Given the description of an element on the screen output the (x, y) to click on. 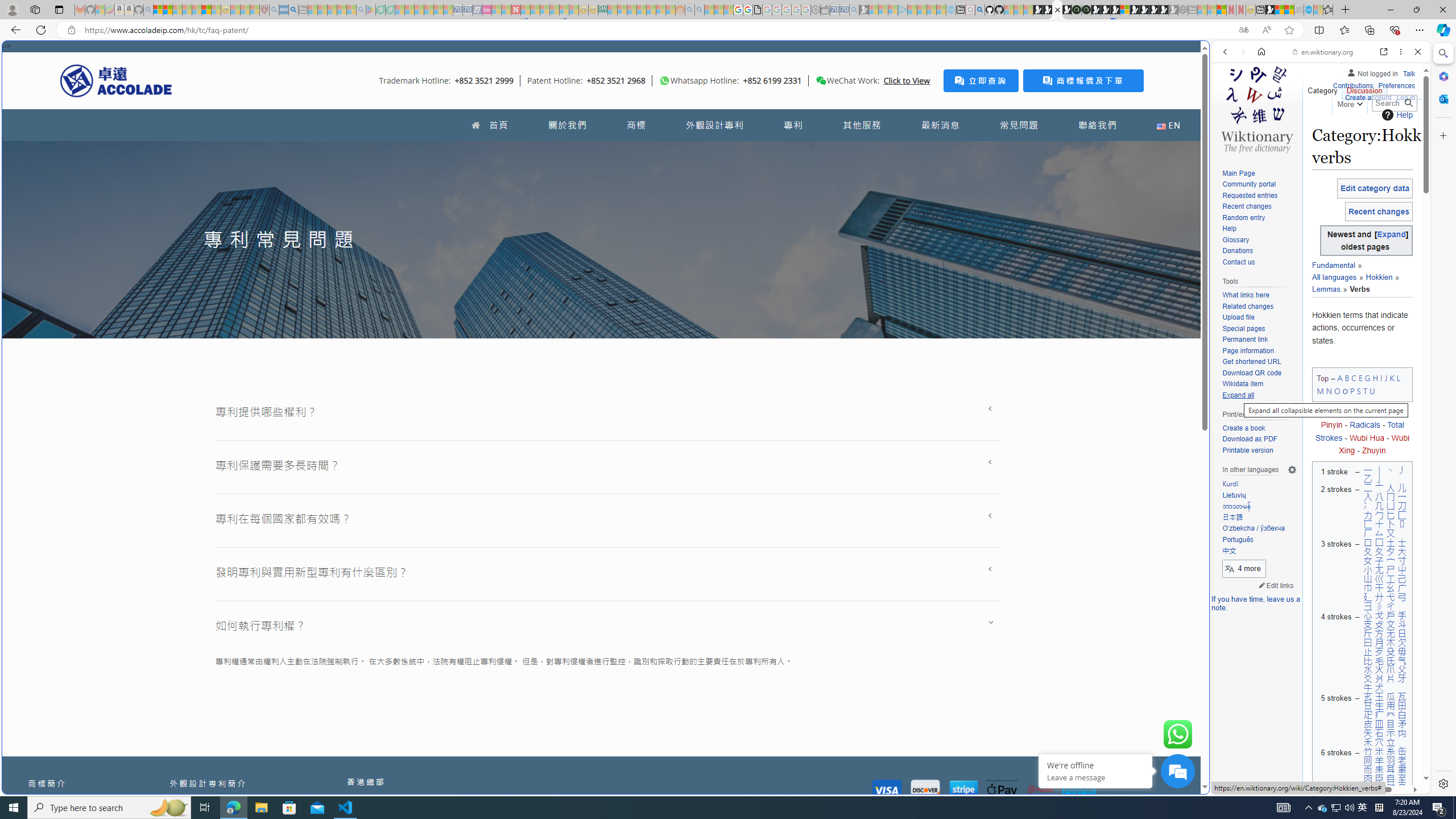
E (1360, 378)
Download QR code (1251, 372)
Services - Maintenance | Sky Blue Bikes - Sky Blue Bikes (1307, 9)
More (1349, 101)
2 strokes (1334, 510)
